Given the description of an element on the screen output the (x, y) to click on. 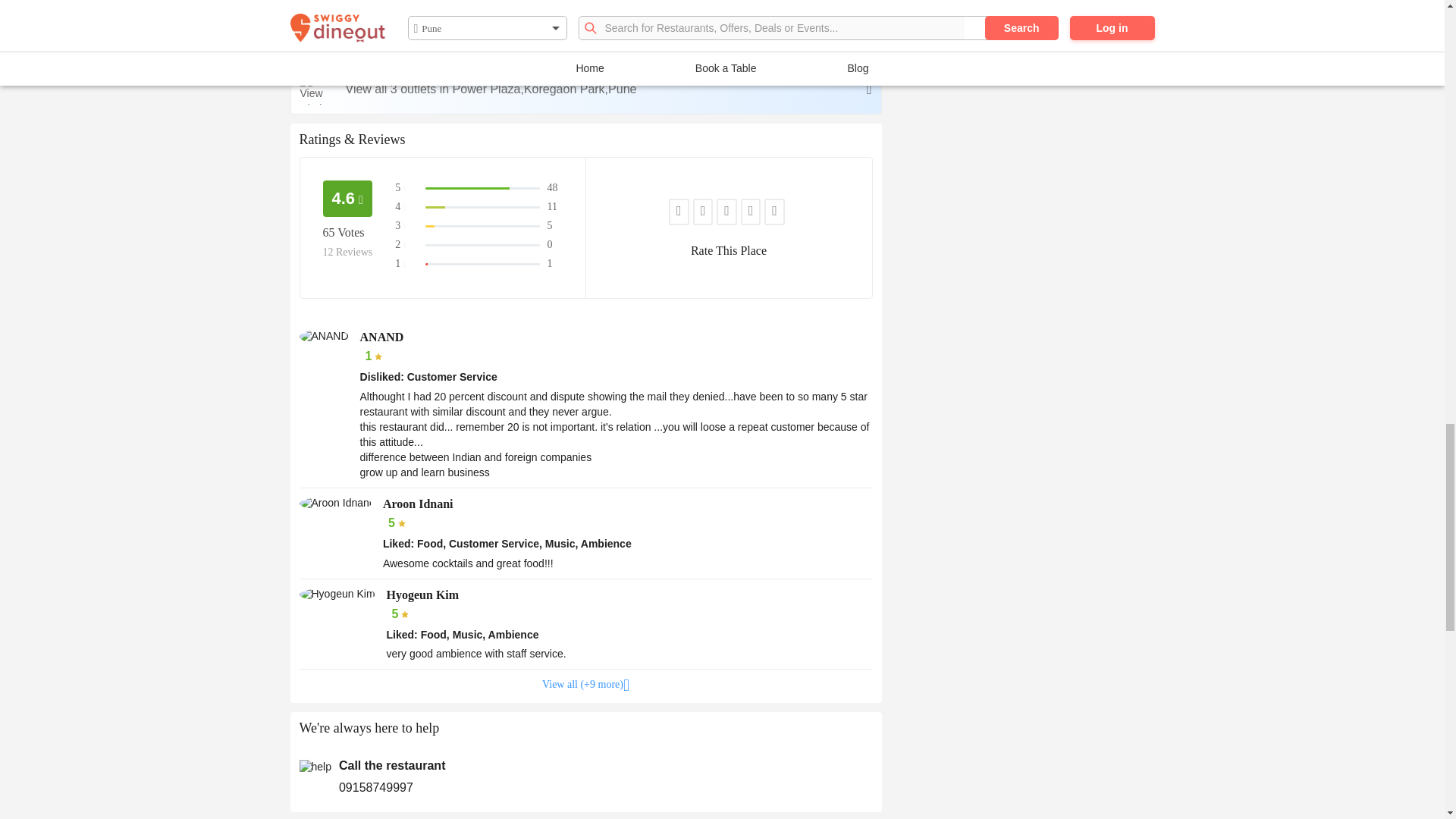
Hyogeun Kim (336, 594)
ANAND  (322, 336)
Aroon Idnani (334, 503)
help (314, 767)
